Given the description of an element on the screen output the (x, y) to click on. 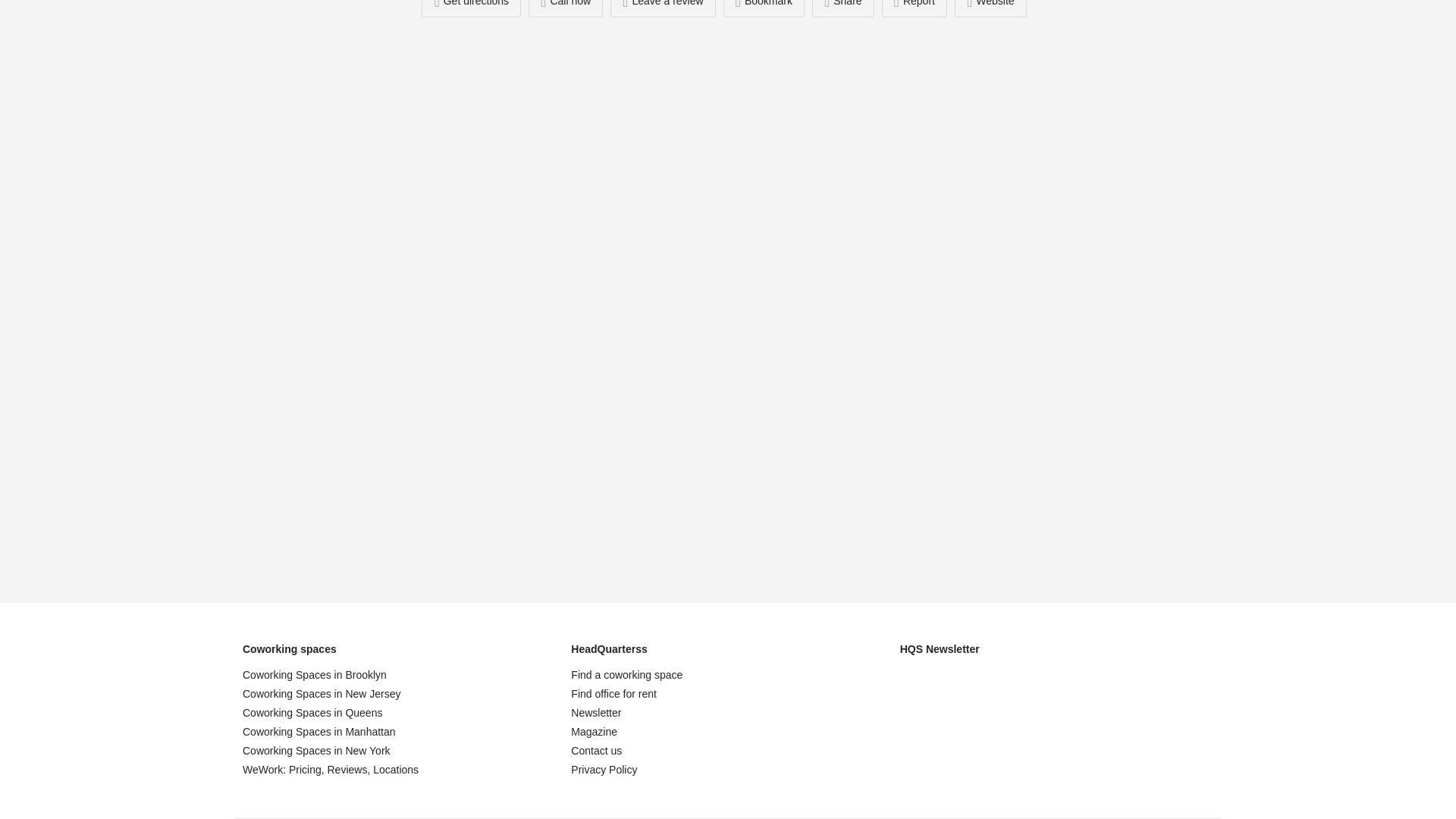
Call now (565, 8)
Get directions (471, 8)
Share (843, 8)
Leave a review (662, 8)
Bookmark (764, 8)
Website (990, 8)
Report (914, 8)
